Given the description of an element on the screen output the (x, y) to click on. 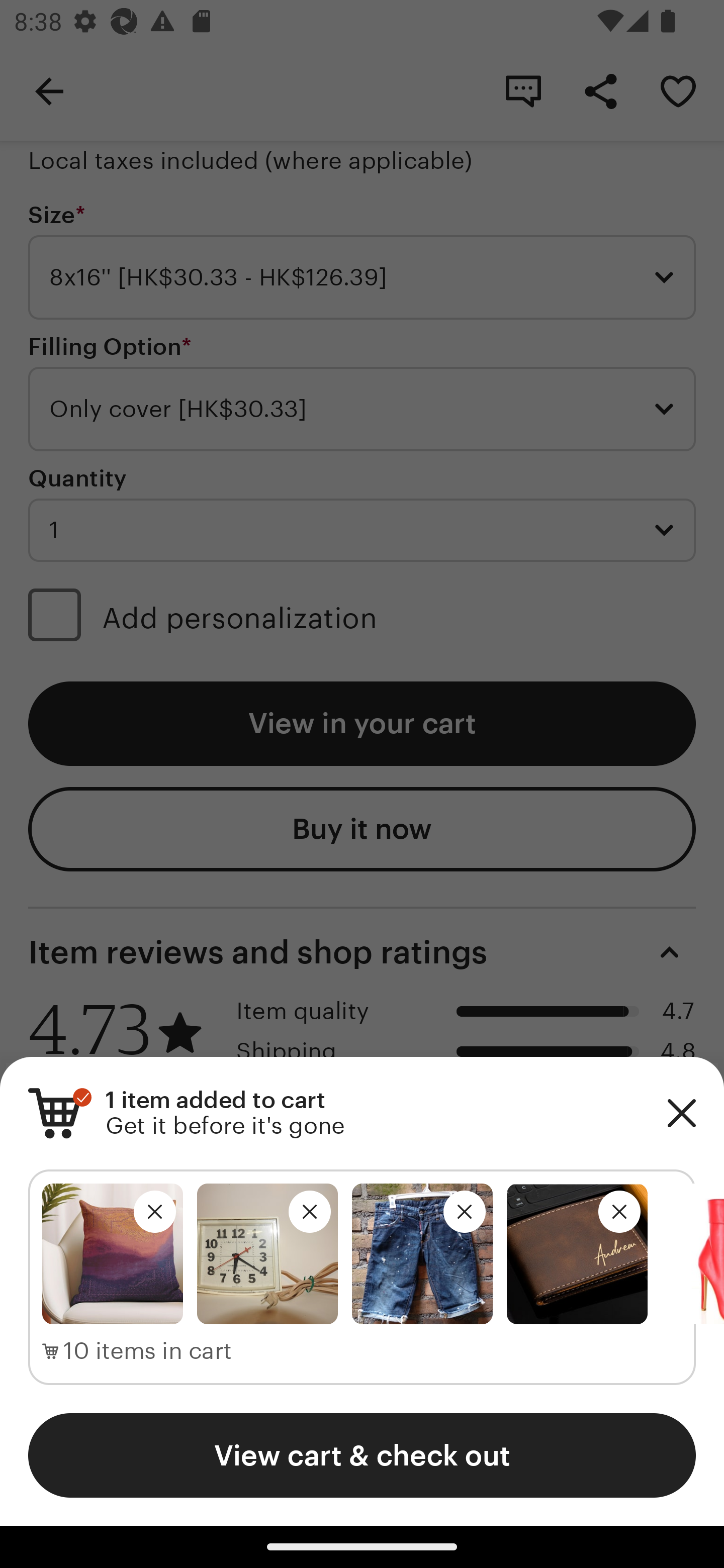
10 items in cart (137, 1351)
View cart & check out (361, 1454)
